Given the description of an element on the screen output the (x, y) to click on. 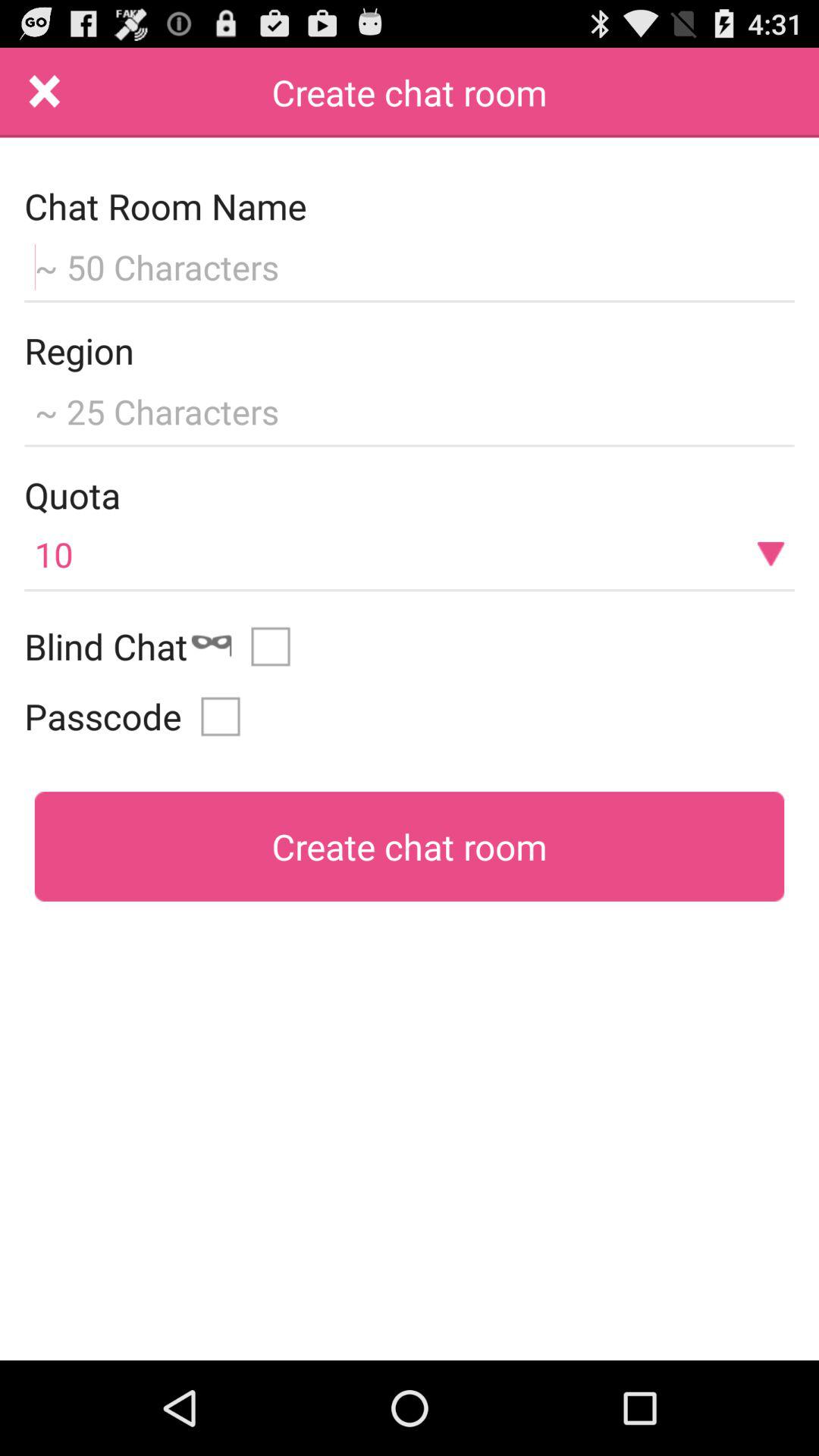
chat room name text box (409, 265)
